Given the description of an element on the screen output the (x, y) to click on. 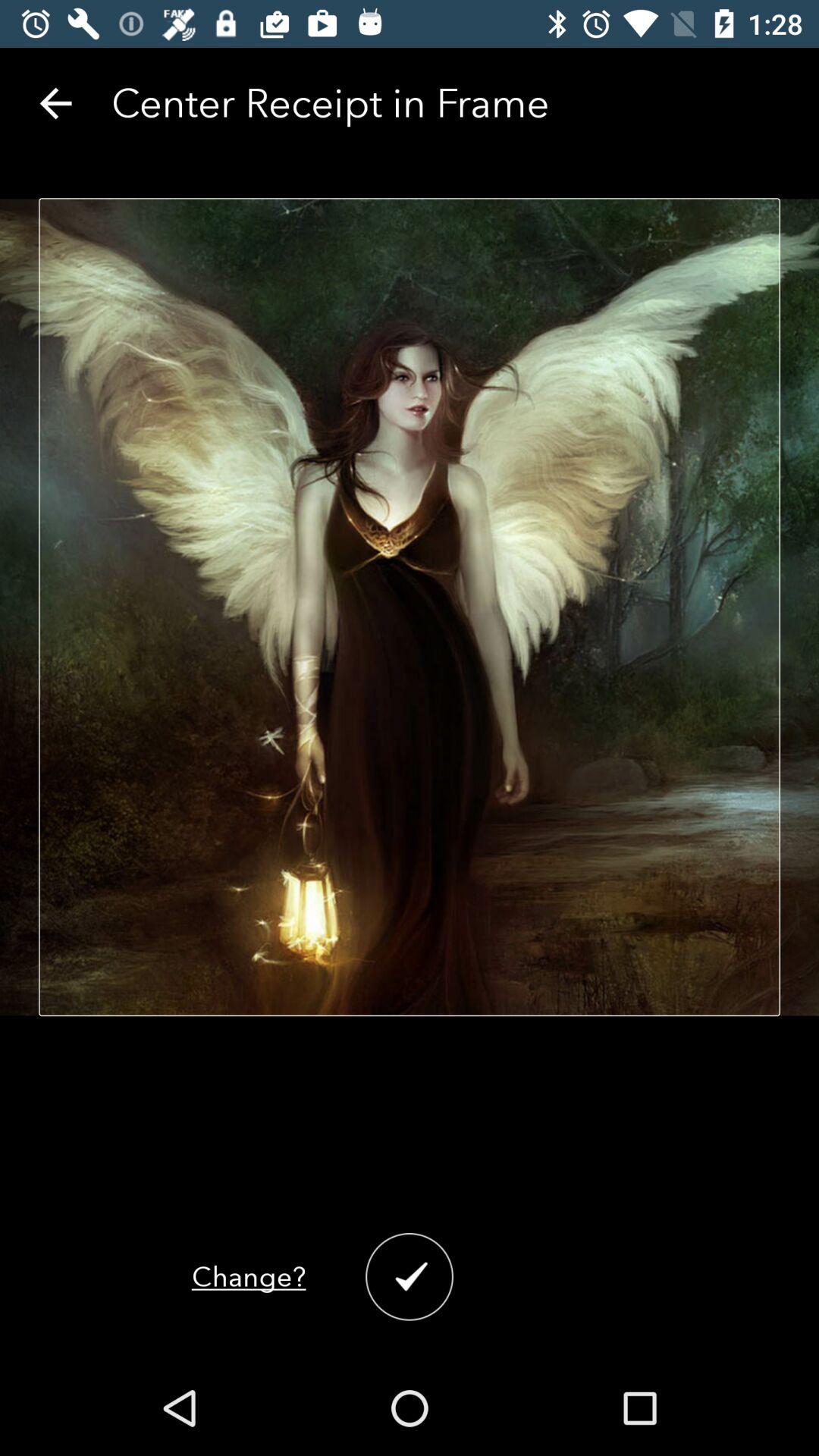
launch the icon at the top left corner (55, 103)
